Given the description of an element on the screen output the (x, y) to click on. 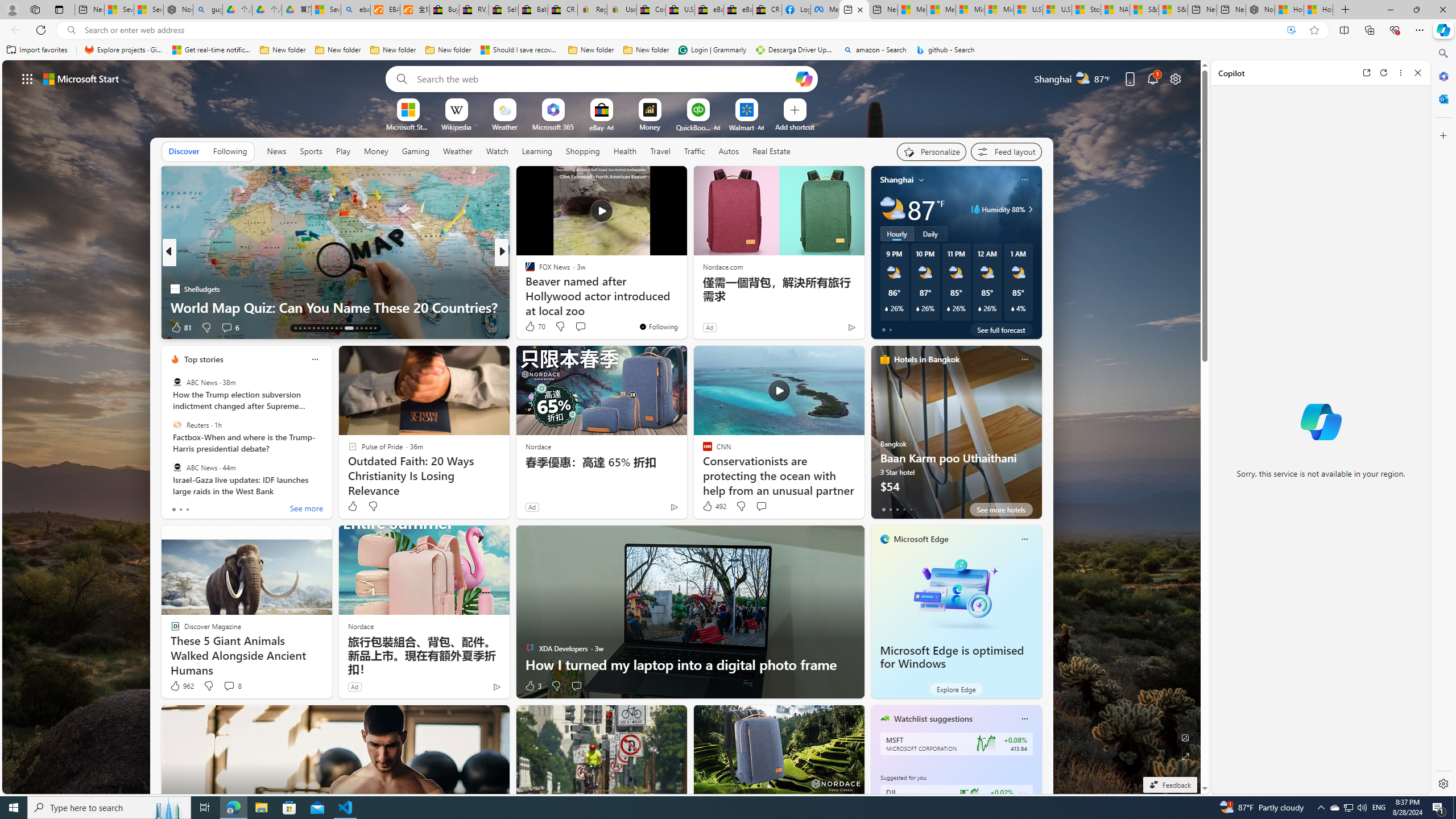
Outlook (1442, 98)
Descarga Driver Updater (794, 49)
Traffic (694, 151)
eBay Inc. Reports Third Quarter 2023 Results (738, 9)
Discover (183, 151)
Hourly (896, 233)
Is It Better to Work Out with More Weight or More Reps? (684, 298)
Weather (457, 151)
Notifications (1152, 78)
guge yunpan - Search (207, 9)
Import favorites (36, 49)
Search icon (70, 29)
Personal Profile (12, 9)
Top stories (203, 359)
